Given the description of an element on the screen output the (x, y) to click on. 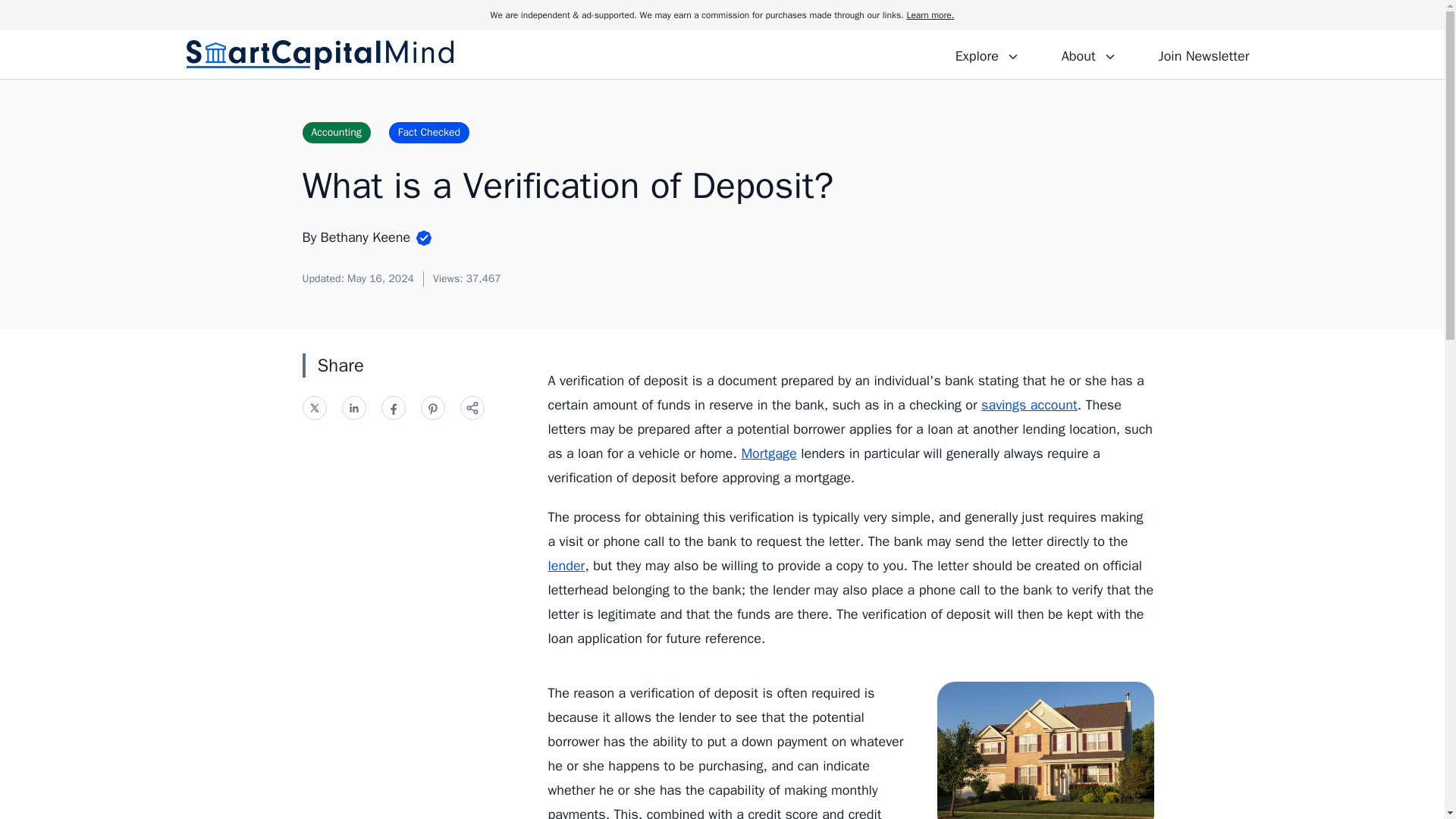
Mortgage (768, 453)
About (1088, 54)
Explore (986, 54)
Fact Checked (428, 132)
lender (566, 565)
Learn more. (929, 15)
Accounting (335, 132)
Join Newsletter (1202, 54)
savings account (1029, 404)
